Given the description of an element on the screen output the (x, y) to click on. 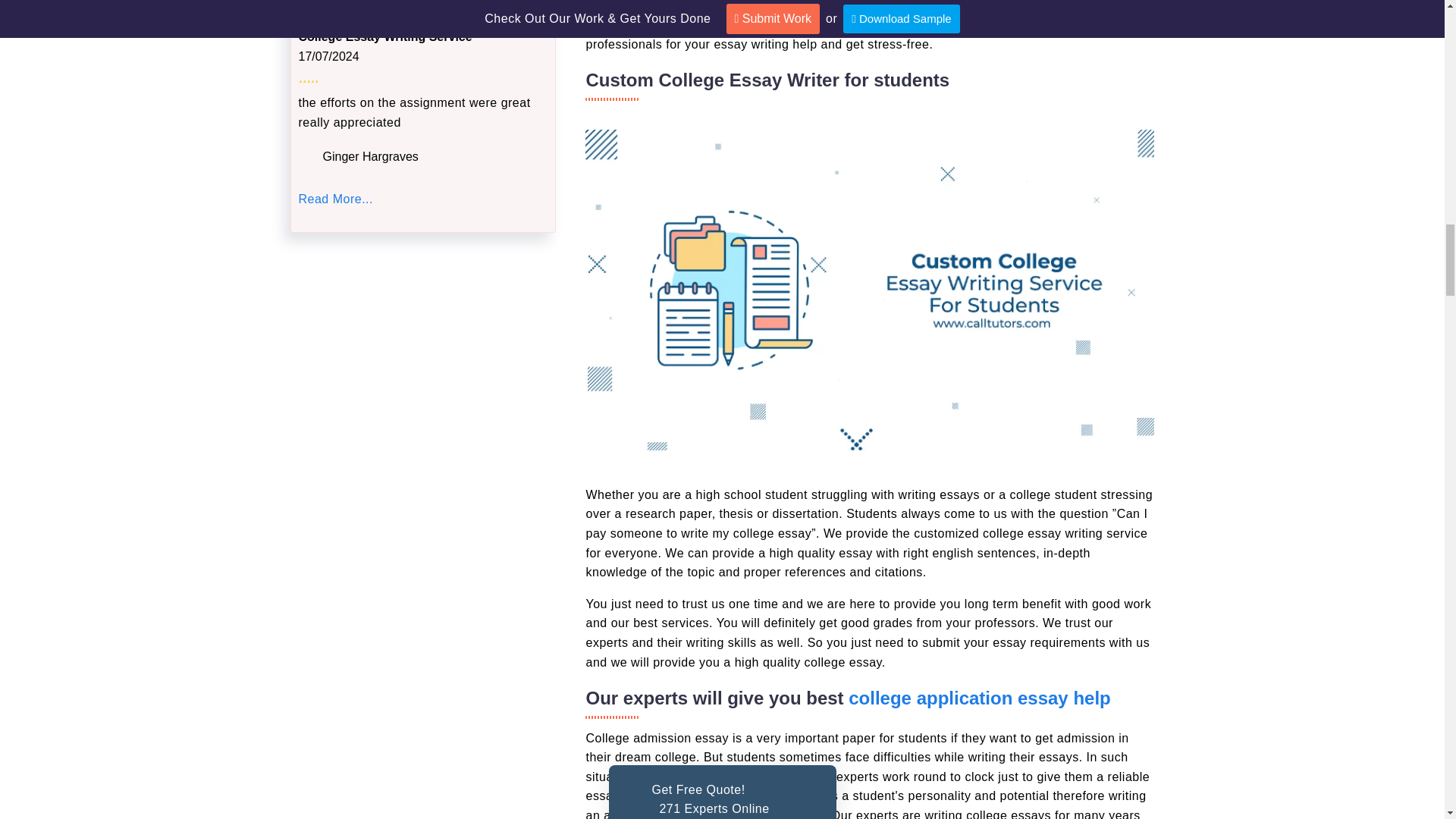
Read More... (335, 198)
